Given the description of an element on the screen output the (x, y) to click on. 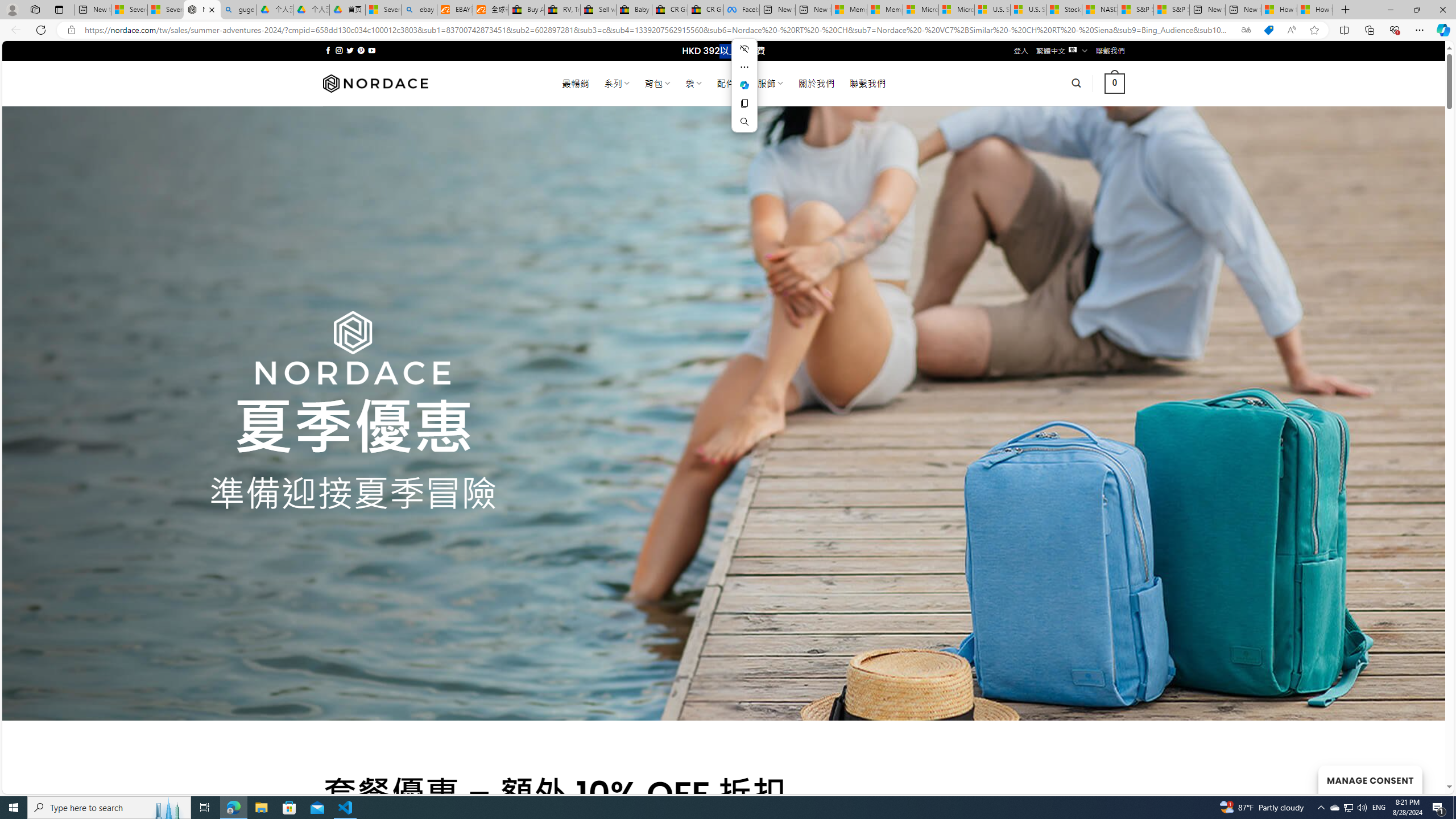
Follow on Twitter (349, 50)
guge yunpan - Search (238, 9)
Mini menu on text selection (744, 84)
 0  (1115, 83)
More actions (744, 67)
S&P 500, Nasdaq end lower, weighed by Nvidia dip | Watch (1170, 9)
